Given the description of an element on the screen output the (x, y) to click on. 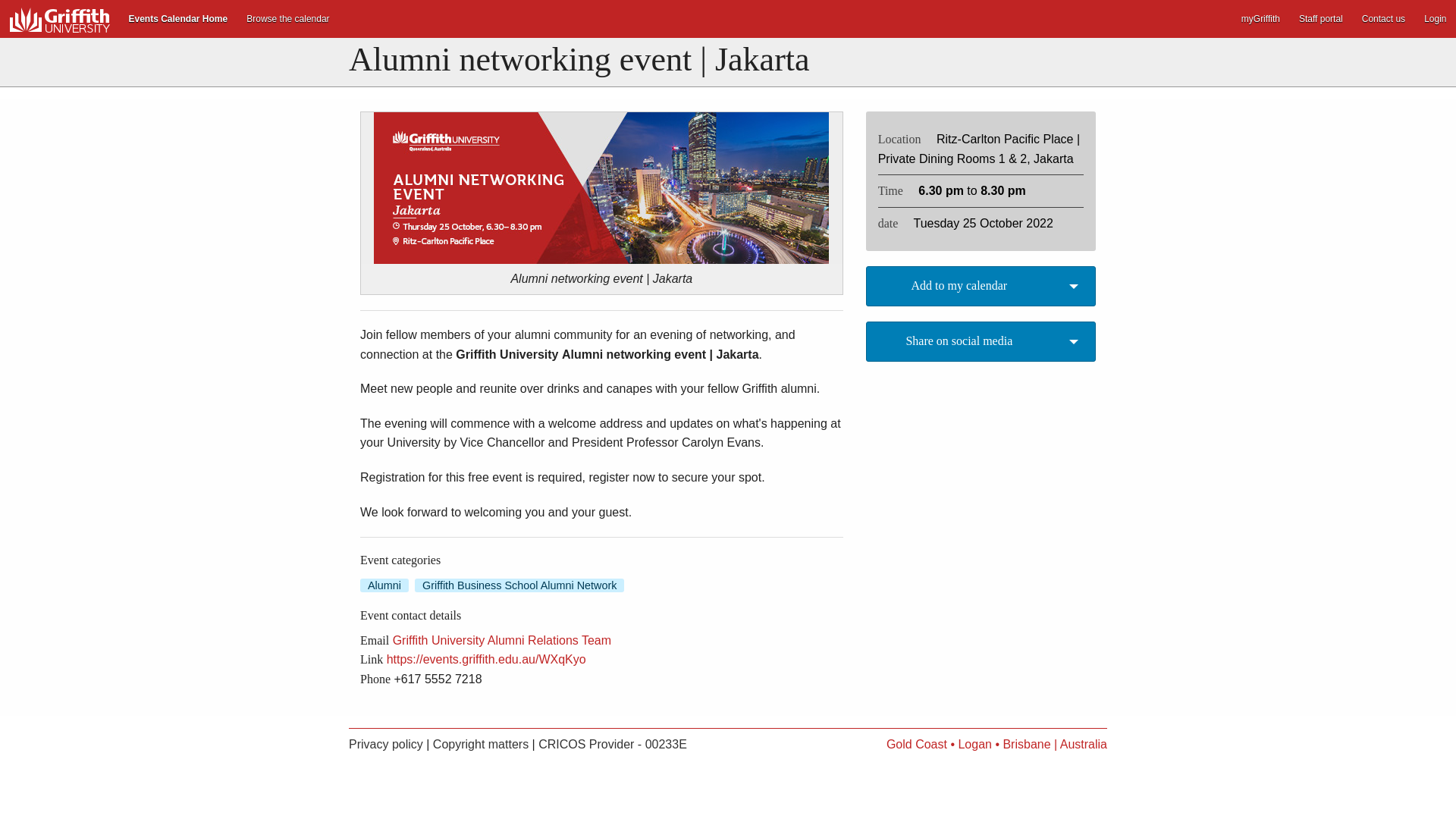
Share on social media (981, 341)
CRICOS Provider - 00233E (612, 744)
Copyright matters (480, 744)
Privacy policy (386, 744)
Contact us (1382, 18)
myGriffith (1259, 18)
Events Calendar Home (178, 18)
Griffith University Alumni Relations Team (502, 640)
Staff portal (1320, 18)
Add to my calendar (981, 286)
Browse the calendar (288, 18)
Alumni (384, 585)
Griffith Business School Alumni Network (519, 585)
